Given the description of an element on the screen output the (x, y) to click on. 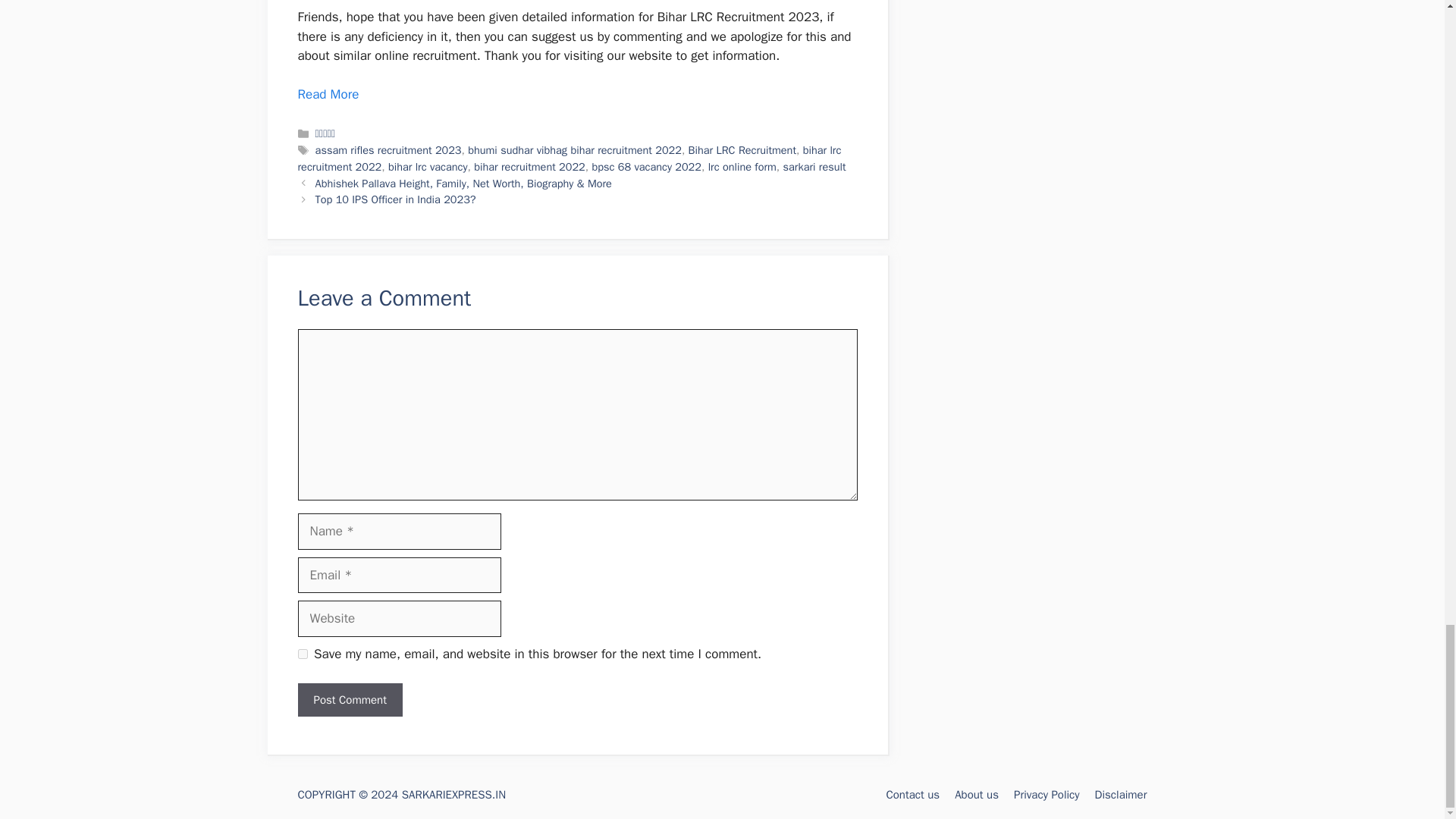
Read More (327, 94)
Bihar LRC Recruitment (742, 150)
lrc online form (741, 166)
bihar recruitment 2022 (529, 166)
bihar lrc vacancy (427, 166)
Post Comment (349, 700)
bpsc 68 vacancy 2022 (646, 166)
bihar lrc recruitment 2022 (569, 158)
bhumi sudhar vibhag bihar recruitment 2022 (574, 150)
yes (302, 654)
